Given the description of an element on the screen output the (x, y) to click on. 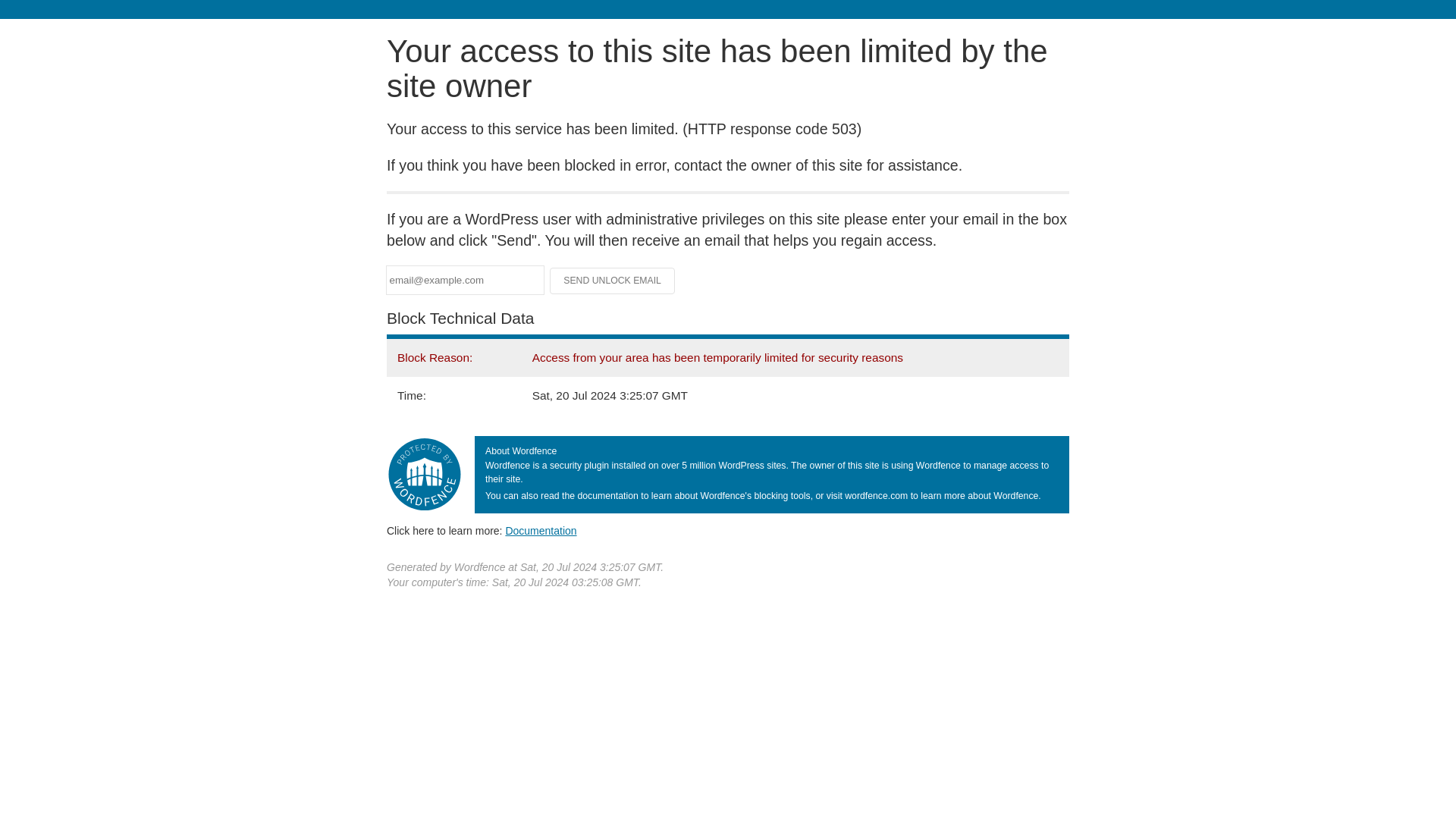
Send Unlock Email (612, 280)
Send Unlock Email (612, 280)
